Given the description of an element on the screen output the (x, y) to click on. 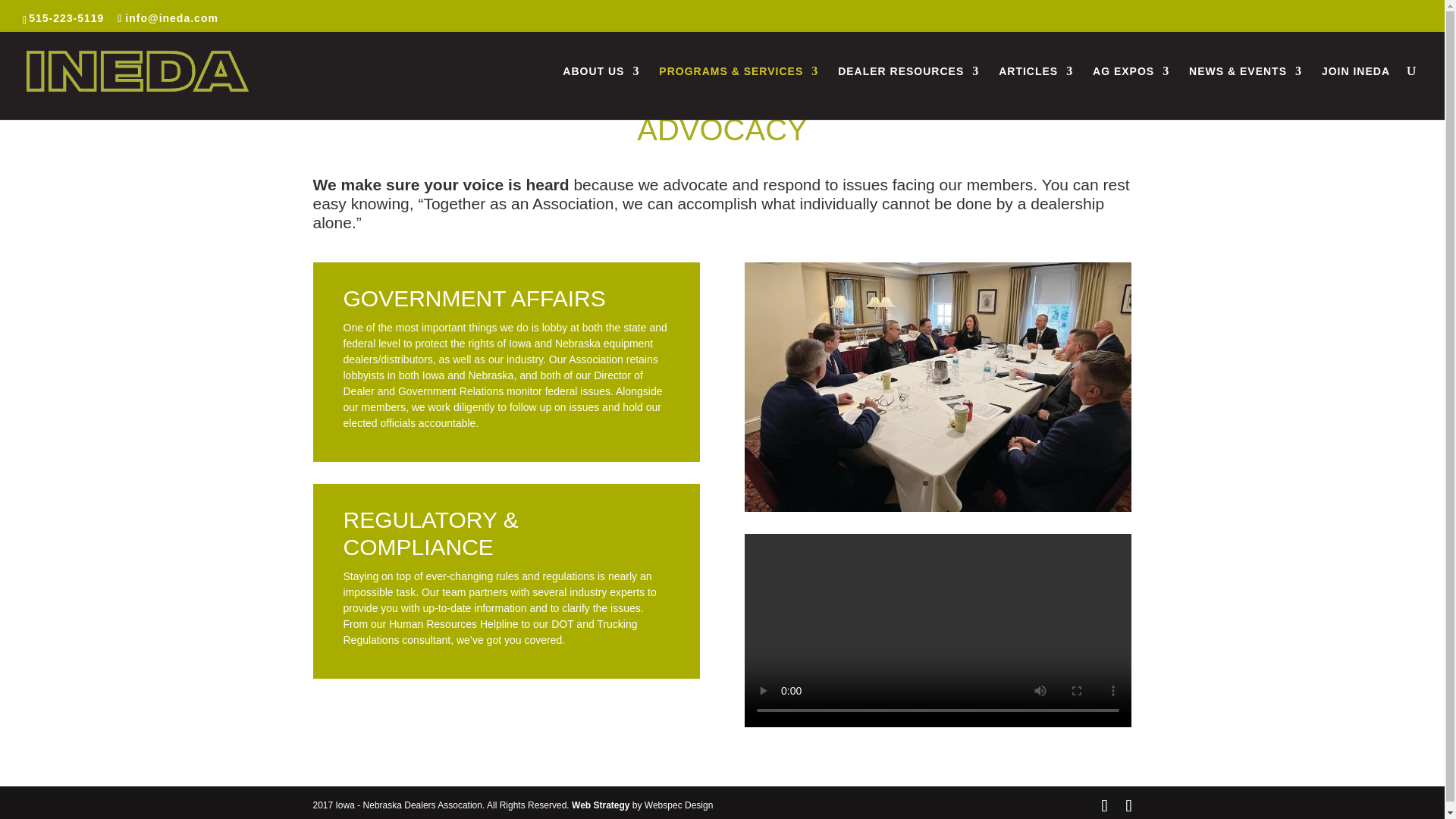
DEALER RESOURCES (908, 91)
ABOUT US (600, 91)
ARTICLES (1035, 91)
Phil 1 (937, 508)
